Given the description of an element on the screen output the (x, y) to click on. 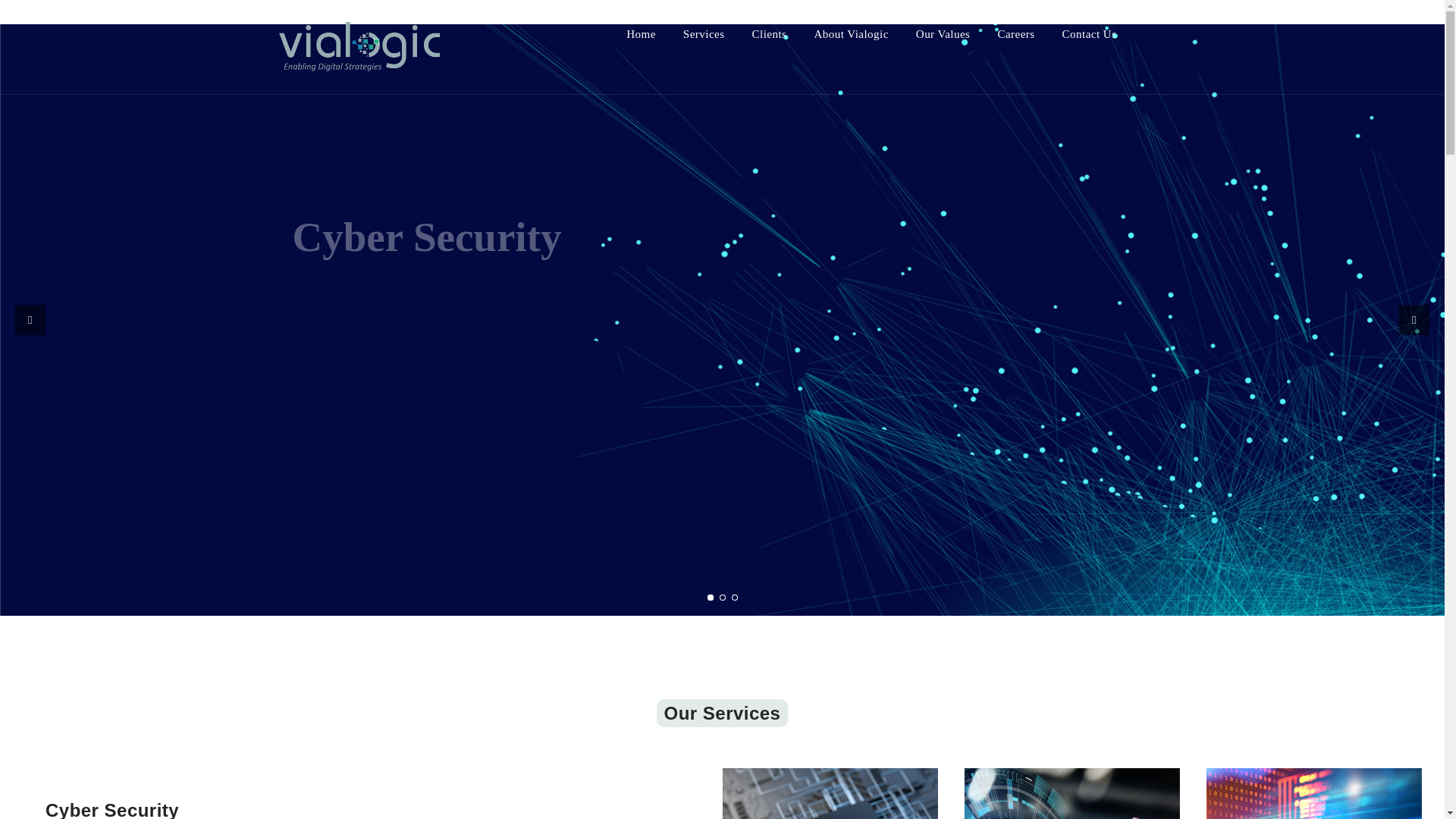
Clients (769, 33)
lock1 (829, 793)
Services (703, 33)
Home (641, 33)
lock3 (1314, 793)
Careers (1015, 33)
Cyber Security - Data Services - ERP (439, 47)
lock2 (1071, 793)
Home (641, 33)
Our Values (943, 33)
